Given the description of an element on the screen output the (x, y) to click on. 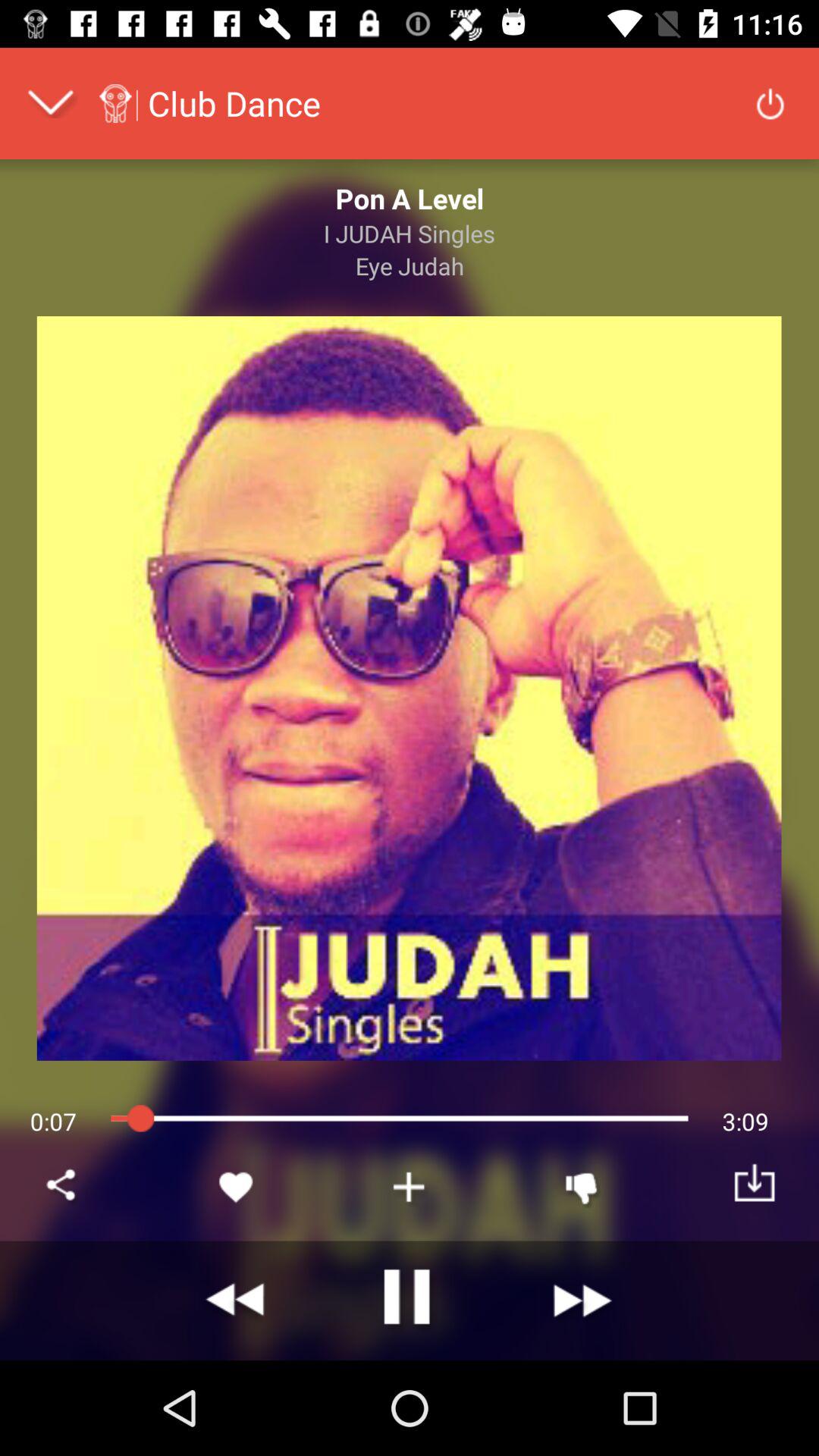
open club dance item (233, 103)
